Given the description of an element on the screen output the (x, y) to click on. 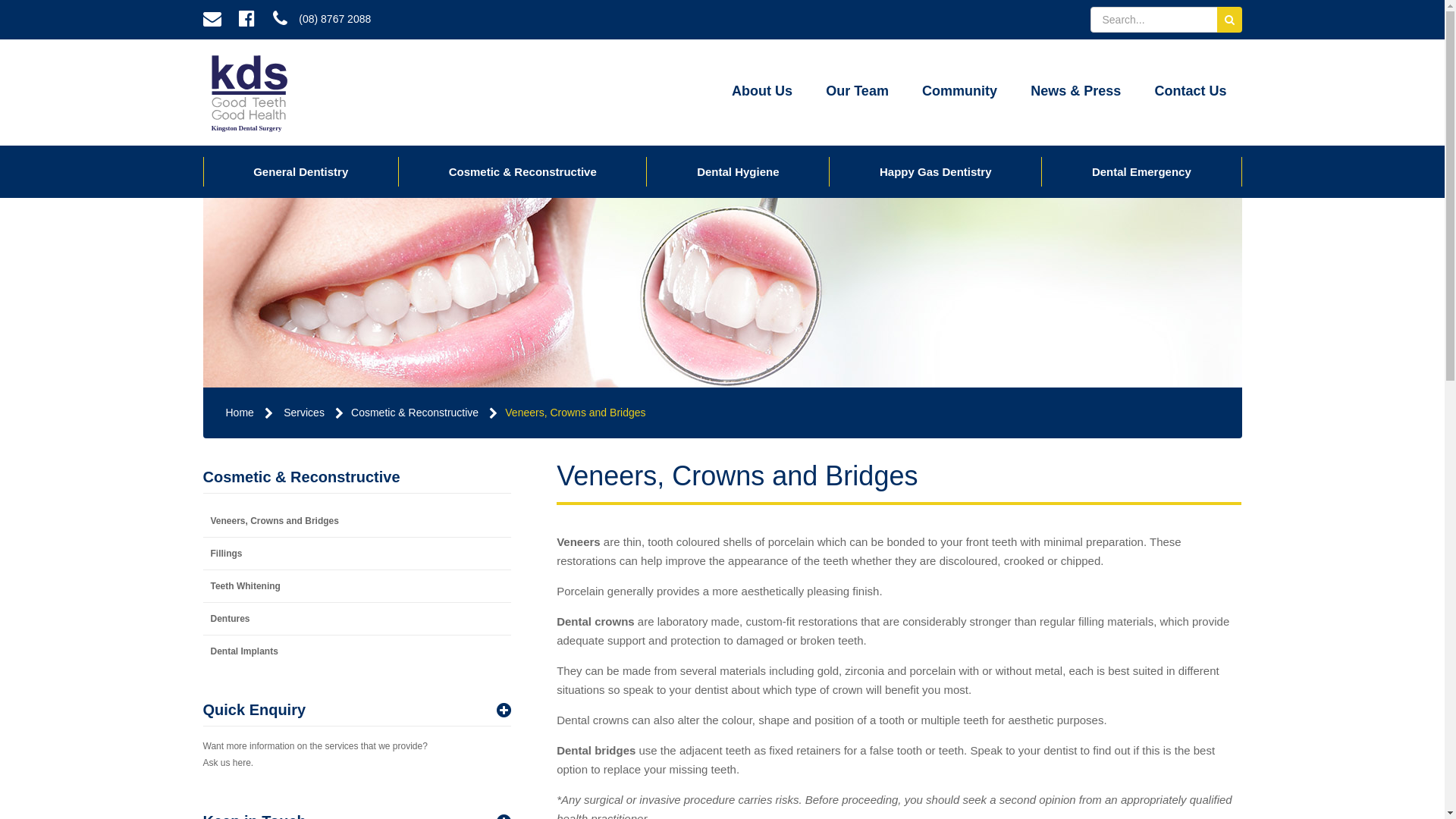
Contact Us Element type: text (1189, 92)
Dental Emergency Element type: text (1140, 171)
Cosmetic & Reconstructive Element type: text (414, 412)
News & Press Element type: text (1075, 92)
General Dentistry Element type: text (300, 171)
Community Element type: text (959, 92)
Quick Enquiry Element type: text (357, 710)
Dentures Element type: text (357, 618)
Check out our Facebook page Element type: hover (246, 19)
Dental Hygiene Element type: text (737, 171)
Contact us via email Element type: hover (212, 19)
About Us Element type: text (762, 92)
Cosmetic & Reconstructive Element type: text (357, 476)
Services Element type: text (303, 412)
To our Home page Element type: hover (248, 92)
Cosmetic & Reconstructive Element type: text (522, 171)
Teeth Whitening Element type: text (357, 586)
Home Element type: text (239, 412)
Our Team Element type: text (857, 92)
Veneers, Crowns and Bridges Element type: text (575, 412)
(08) 8767 2088 Element type: text (321, 19)
Happy Gas Dentistry Element type: text (935, 171)
Veneers, Crowns and Bridges Element type: text (357, 520)
Dental Implants Element type: text (357, 651)
Fillings Element type: text (357, 553)
